Given the description of an element on the screen output the (x, y) to click on. 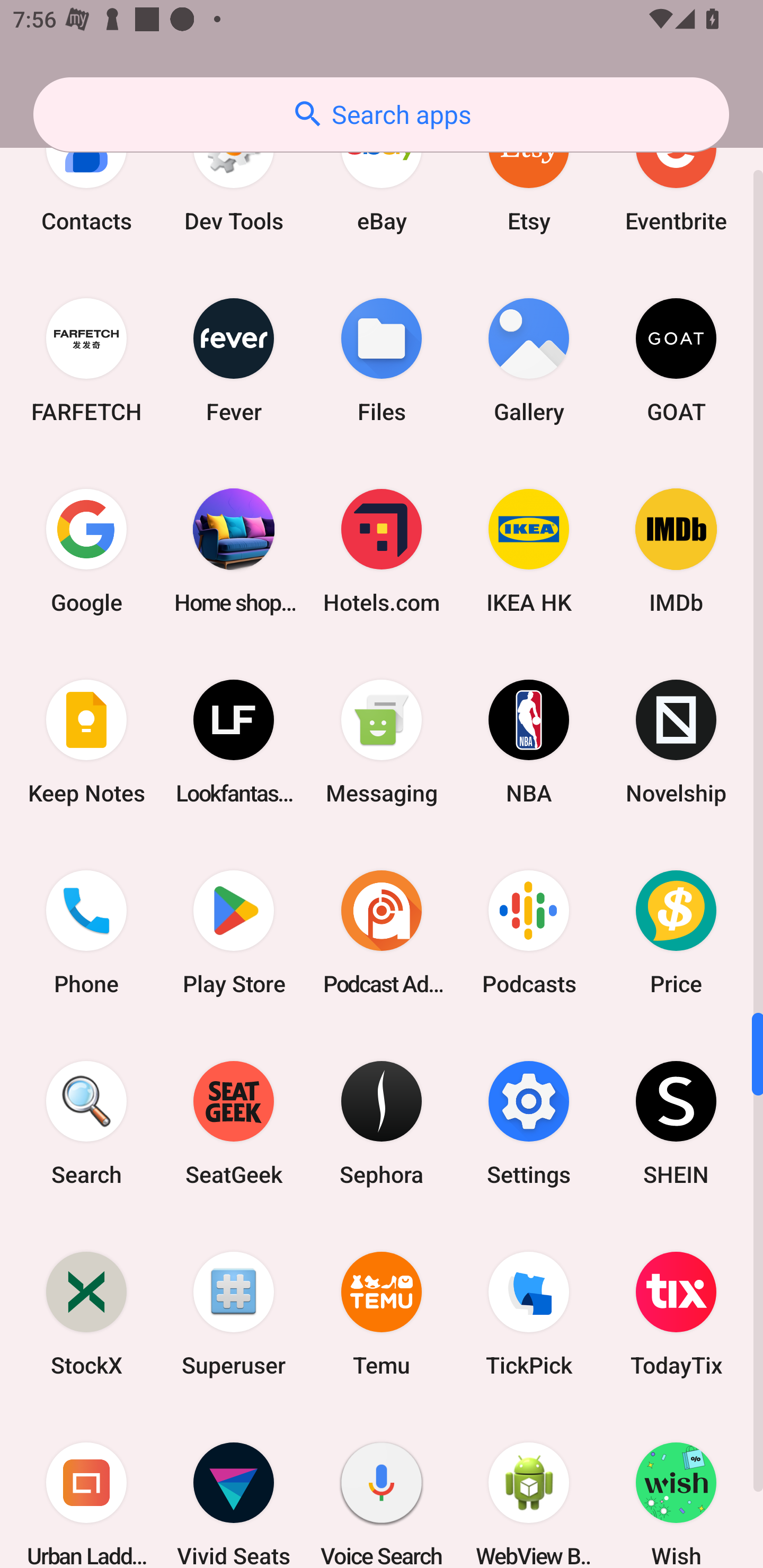
  Search apps (381, 114)
Contacts (86, 177)
Dev Tools (233, 177)
eBay (381, 177)
Etsy (528, 177)
Eventbrite (676, 177)
FARFETCH (86, 360)
Fever (233, 360)
Files (381, 360)
Gallery (528, 360)
GOAT (676, 360)
Google (86, 551)
Home shopping (233, 551)
Hotels.com (381, 551)
IKEA HK (528, 551)
IMDb (676, 551)
Keep Notes (86, 741)
Lookfantastic (233, 741)
Messaging (381, 741)
NBA (528, 741)
Novelship (676, 741)
Phone (86, 932)
Play Store (233, 932)
Podcast Addict (381, 932)
Podcasts (528, 932)
Price (676, 932)
Search (86, 1122)
SeatGeek (233, 1122)
Sephora (381, 1122)
Settings (528, 1122)
SHEIN (676, 1122)
StockX (86, 1313)
Superuser (233, 1313)
Temu (381, 1313)
TickPick (528, 1313)
TodayTix (676, 1313)
Urban Ladder (86, 1488)
Vivid Seats (233, 1488)
Voice Search (381, 1488)
WebView Browser Tester (528, 1488)
Wish (676, 1488)
